Given the description of an element on the screen output the (x, y) to click on. 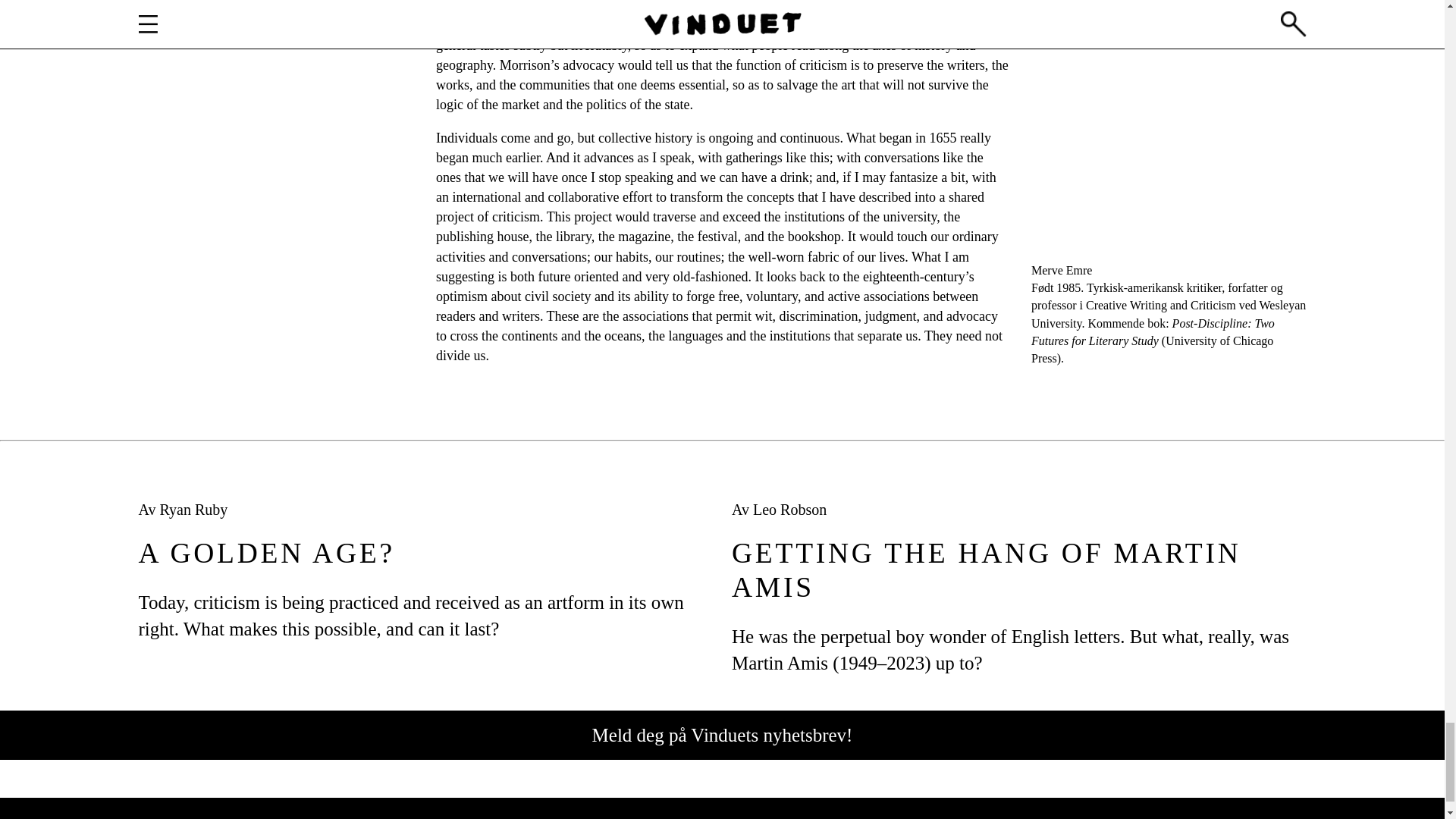
A Golden Age? (425, 562)
Share on Facebook (157, 314)
Share on Twitter (157, 259)
Getting the Hang of Martin Amis (1019, 579)
